Given the description of an element on the screen output the (x, y) to click on. 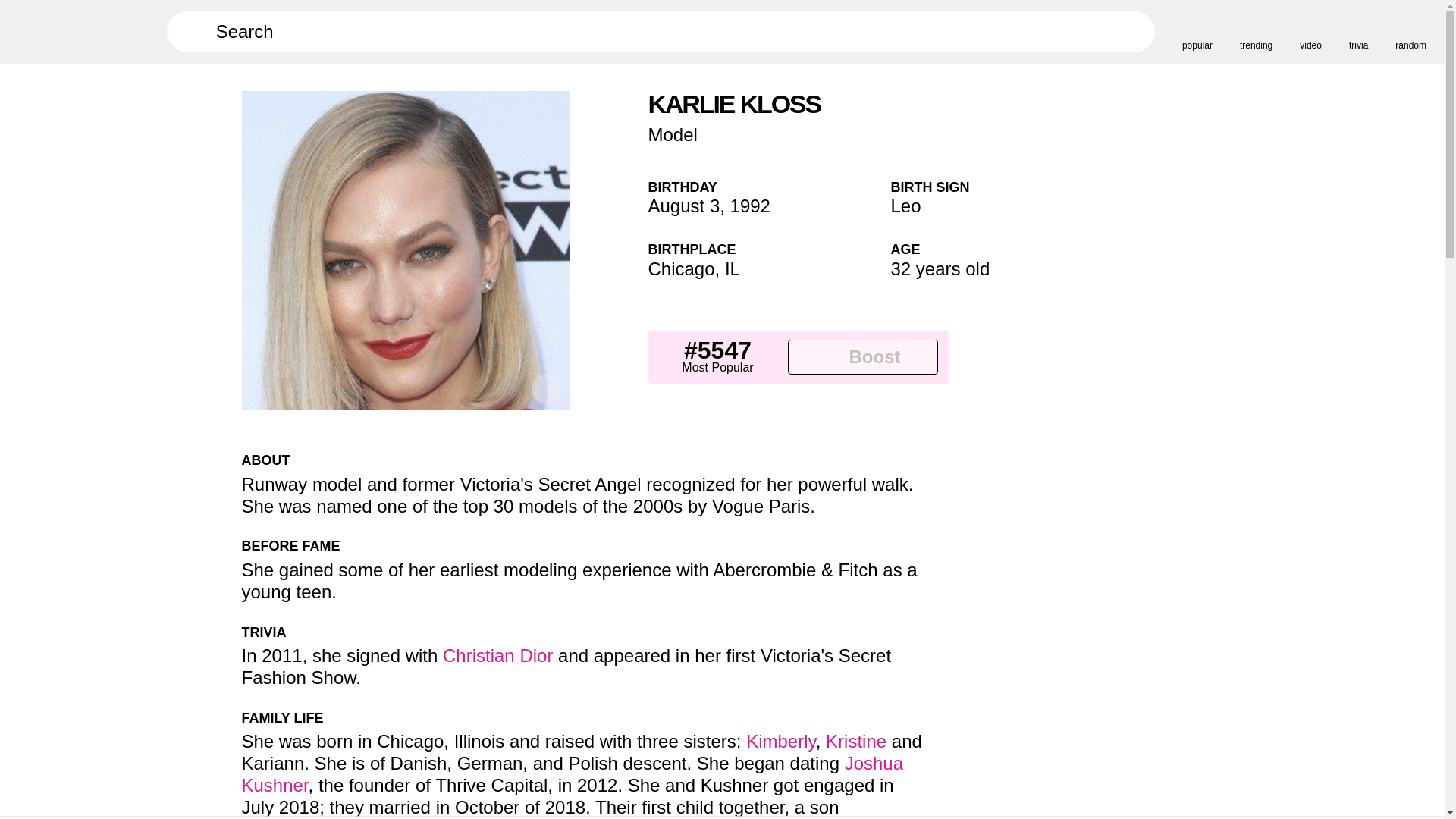
Kristine (855, 741)
Boost (862, 356)
1992 (750, 205)
Model (672, 134)
August 3 (683, 205)
Chicago (680, 268)
Joshua Kushner (571, 773)
Kimberly (780, 741)
32 years old (939, 268)
Christian Dior (497, 655)
